Given the description of an element on the screen output the (x, y) to click on. 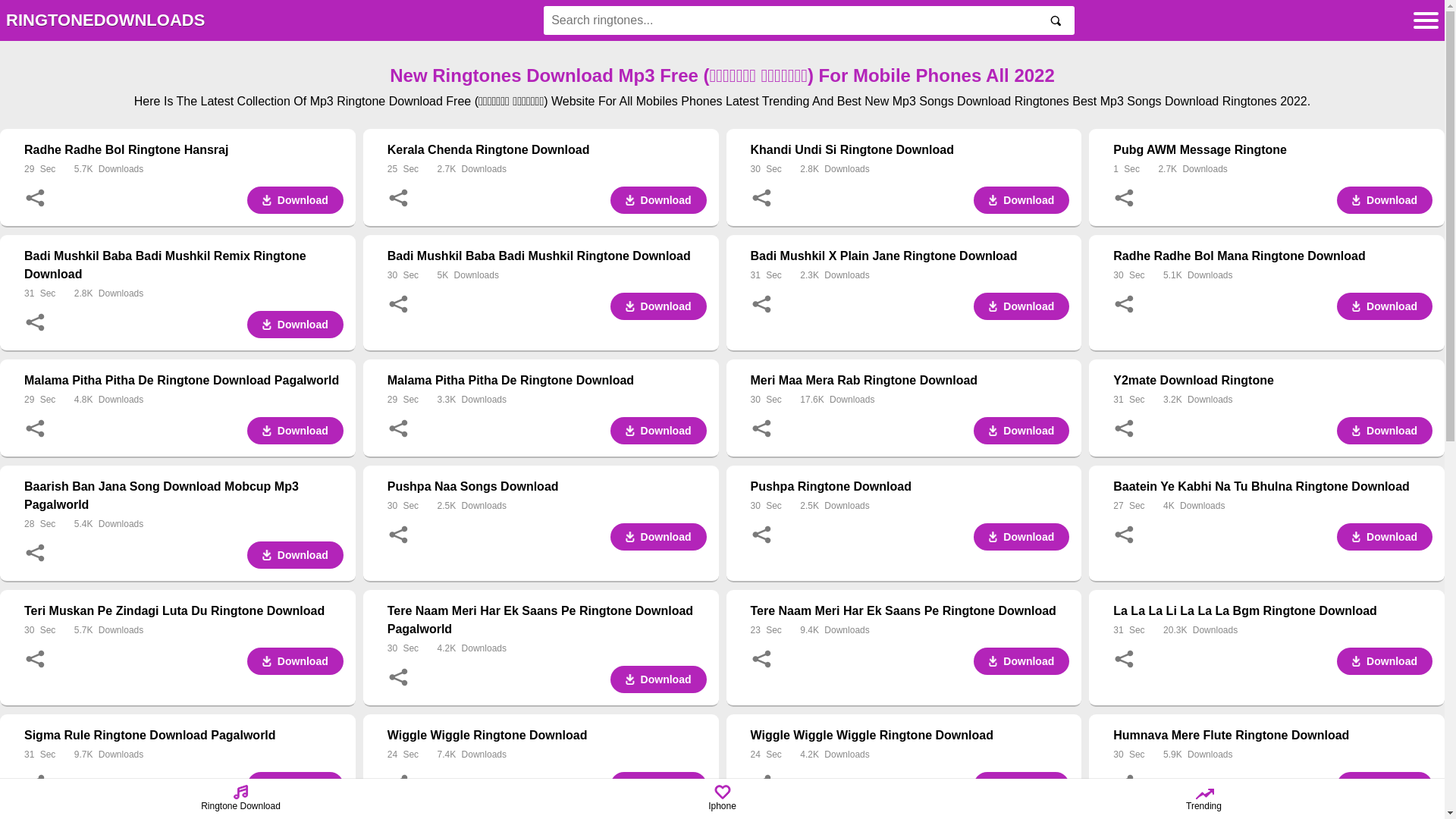
Malama Pitha Pitha De Ringtone Download
29 3.3K Element type: text (546, 389)
Wiggle Wiggle Ringtone Download
24 7.4K Element type: text (546, 744)
RINGTONEDOWNLOADS Element type: text (105, 20)
Tere Naam Meri Har Ek Saans Pe Ringtone Download
23 9.4K Element type: text (910, 620)
La La La Li La La La Bgm Ringtone Download
31 20.3K Element type: text (1272, 620)
Pushpa Naa Songs Download
30 2.5K Element type: text (546, 495)
Best Mp3 Songs Download Element type: text (1145, 100)
Radhe Radhe Bol Mana Ringtone Download
30 5.1K Element type: text (1272, 265)
Humnava Mere Flute Ringtone Download
30 5.9K Element type: text (1272, 744)
Badi Mushkil X Plain Jane Ringtone Download
31 2.3K Element type: text (910, 265)
Khandi Undi Si Ringtone Download
30 2.8K Element type: text (910, 159)
Pushpa Ringtone Download
30 2.5K Element type: text (910, 495)
Pubg AWM Message Ringtone
1 2.7K Element type: text (1272, 159)
Sigma Rule Ringtone Download Pagalworld
31 9.7K Element type: text (183, 744)
Baatein Ye Kabhi Na Tu Bhulna Ringtone Download
27 4K Element type: text (1272, 495)
Y2mate Download Ringtone
31 3.2K Element type: text (1272, 389)
Radhe Radhe Bol Ringtone Hansraj
29 5.7K Element type: text (183, 159)
Wiggle Wiggle Wiggle Ringtone Download
24 4.2K Element type: text (910, 744)
Malama Pitha Pitha De Ringtone Download Pagalworld
29 4.8K Element type: text (183, 389)
Meri Maa Mera Rab Ringtone Download
30 17.6K Element type: text (910, 389)
Teri Muskan Pe Zindagi Luta Du Ringtone Download
30 5.7K Element type: text (183, 620)
New Mp3 Songs Download Element type: text (937, 100)
Baarish Ban Jana Song Download Mobcup Mp3 Pagalworld
28 5.4K Element type: text (183, 504)
Kerala Chenda Ringtone Download
25 2.7K Element type: text (546, 159)
Badi Mushkil Baba Badi Mushkil Ringtone Download
30 5K Element type: text (546, 265)
